Given the description of an element on the screen output the (x, y) to click on. 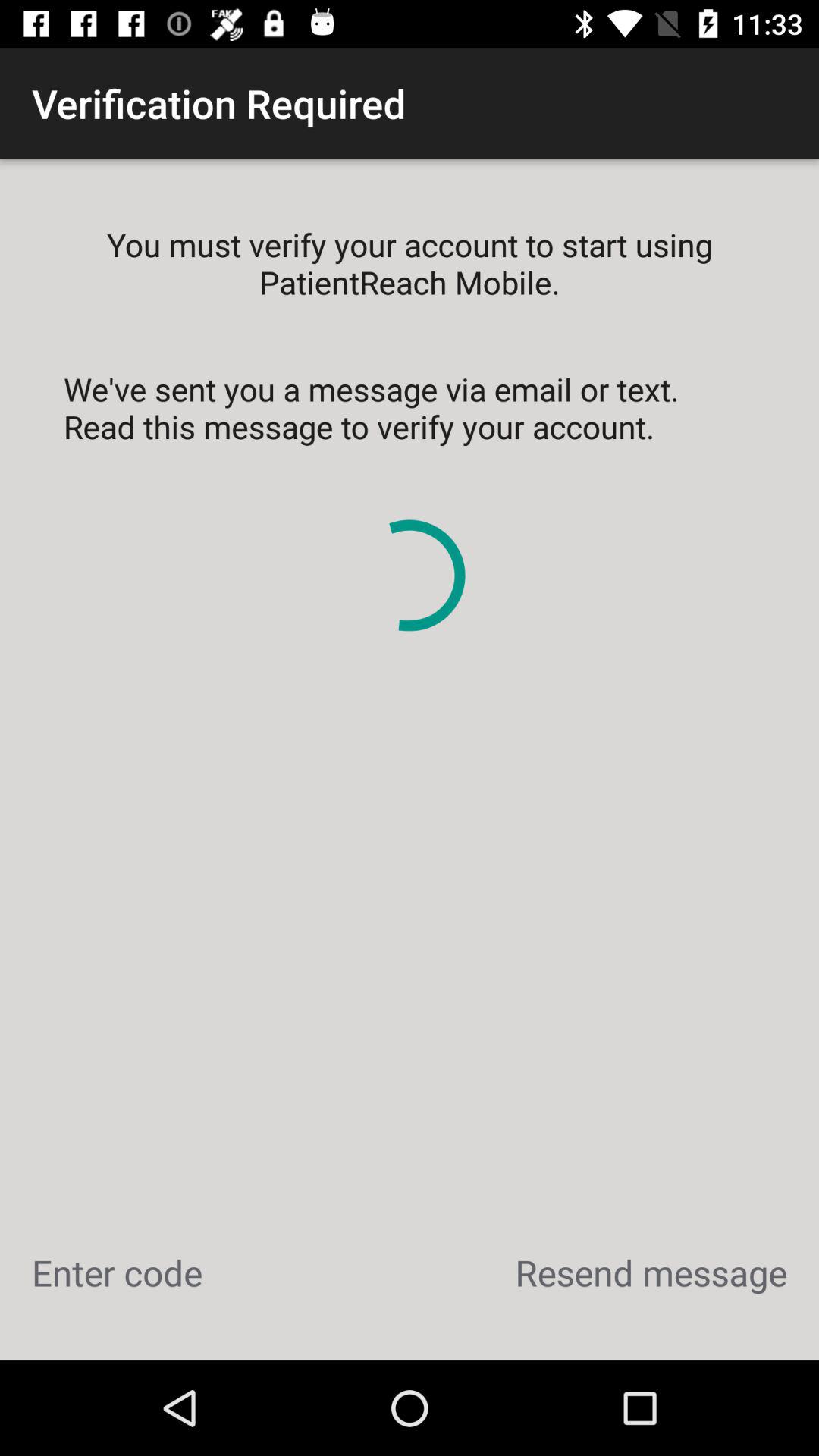
choose the enter code icon (116, 1272)
